Given the description of an element on the screen output the (x, y) to click on. 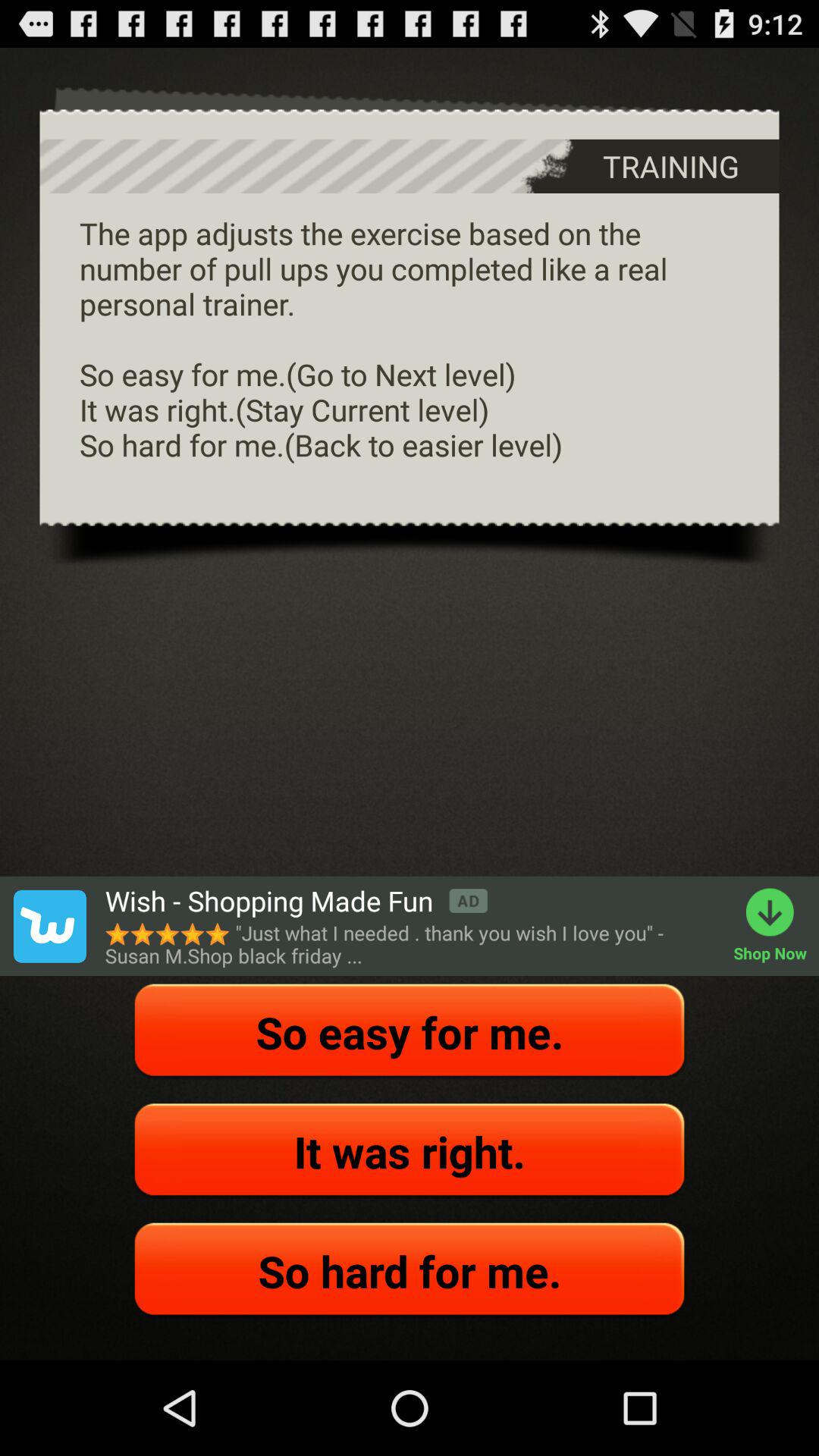
open the advertisement (49, 925)
